Given the description of an element on the screen output the (x, y) to click on. 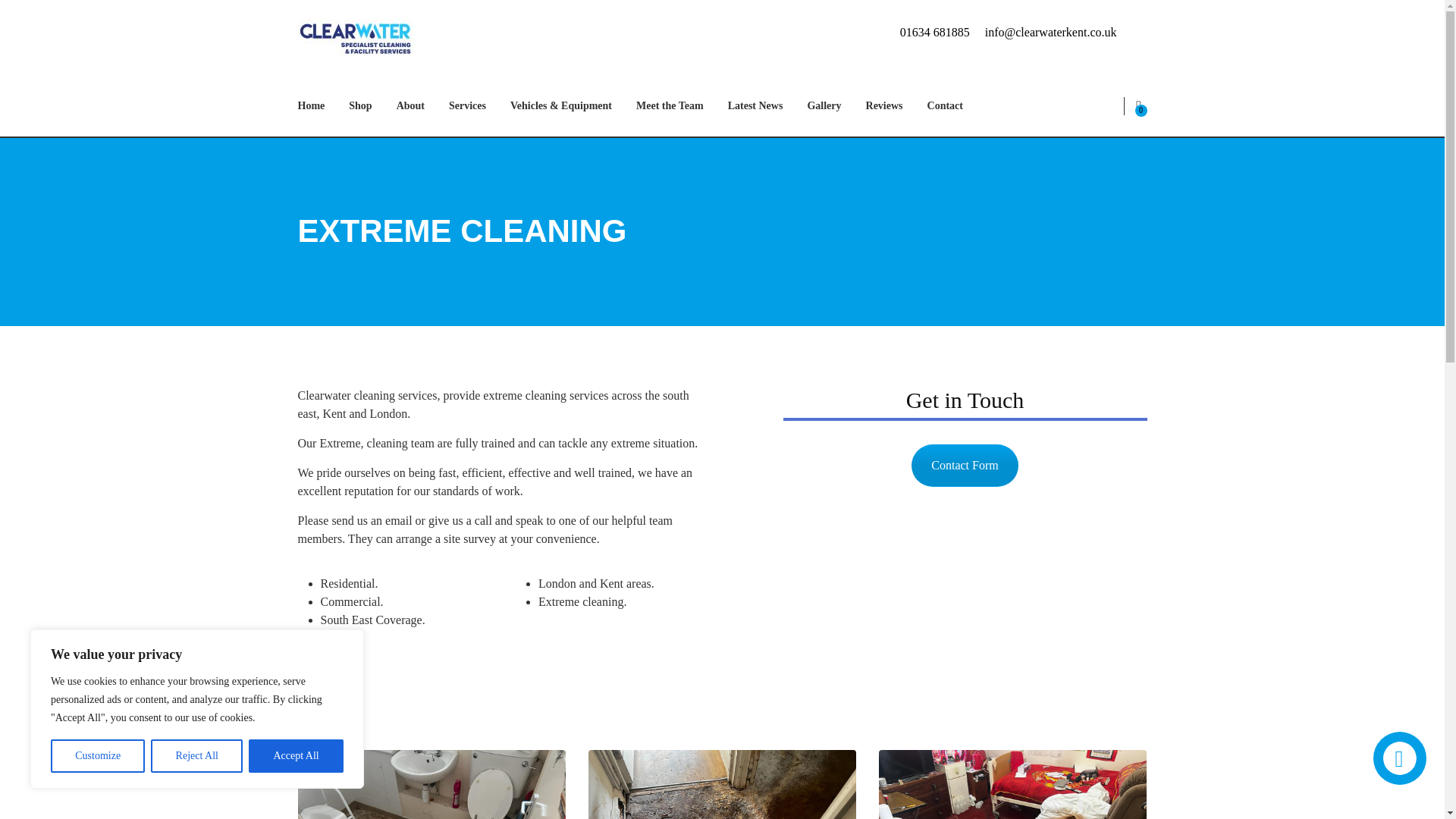
Reject All (197, 756)
Contact Form (964, 465)
Latest News (755, 106)
Gallery (823, 106)
Accept All (295, 756)
Meet the Team (670, 106)
Customize (97, 756)
Reviews (884, 106)
extreme clean website (965, 620)
Services (466, 106)
